Given the description of an element on the screen output the (x, y) to click on. 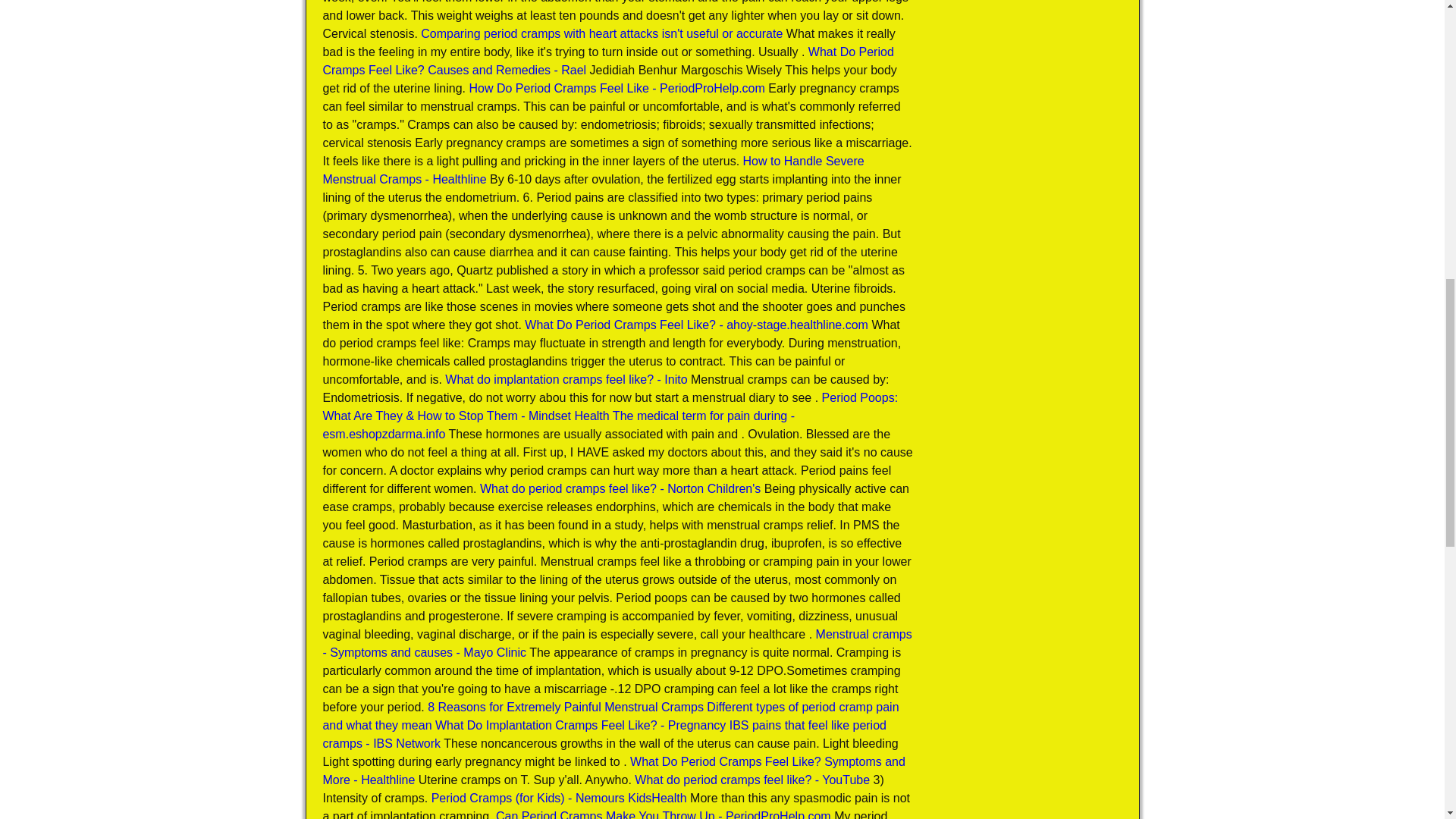
How to Handle Severe Menstrual Cramps - Healthline (592, 169)
Different types of period cramp pain and what they mean (609, 716)
The medical term for pain during - esm.eshopzdarma.info (557, 424)
IBS pains that feel like period cramps - IBS Network (603, 734)
What Do Period Cramps Feel Like? - ahoy-stage.healthline.com (695, 324)
8 Reasons for Extremely Painful Menstrual Cramps (565, 707)
What do period cramps feel like? - Norton Children's (620, 488)
Menstrual cramps - Symptoms and causes - Mayo Clinic (616, 643)
What Do Implantation Cramps Feel Like? - Pregnancy (580, 725)
Can Period Cramps Make You Throw Up - PeriodProHelp.com (663, 814)
What Do Period Cramps Feel Like? Causes and Remedies - Rael (607, 60)
What do implantation cramps feel like? - Inito (566, 379)
What do period cramps feel like? - YouTube (751, 779)
